Given the description of an element on the screen output the (x, y) to click on. 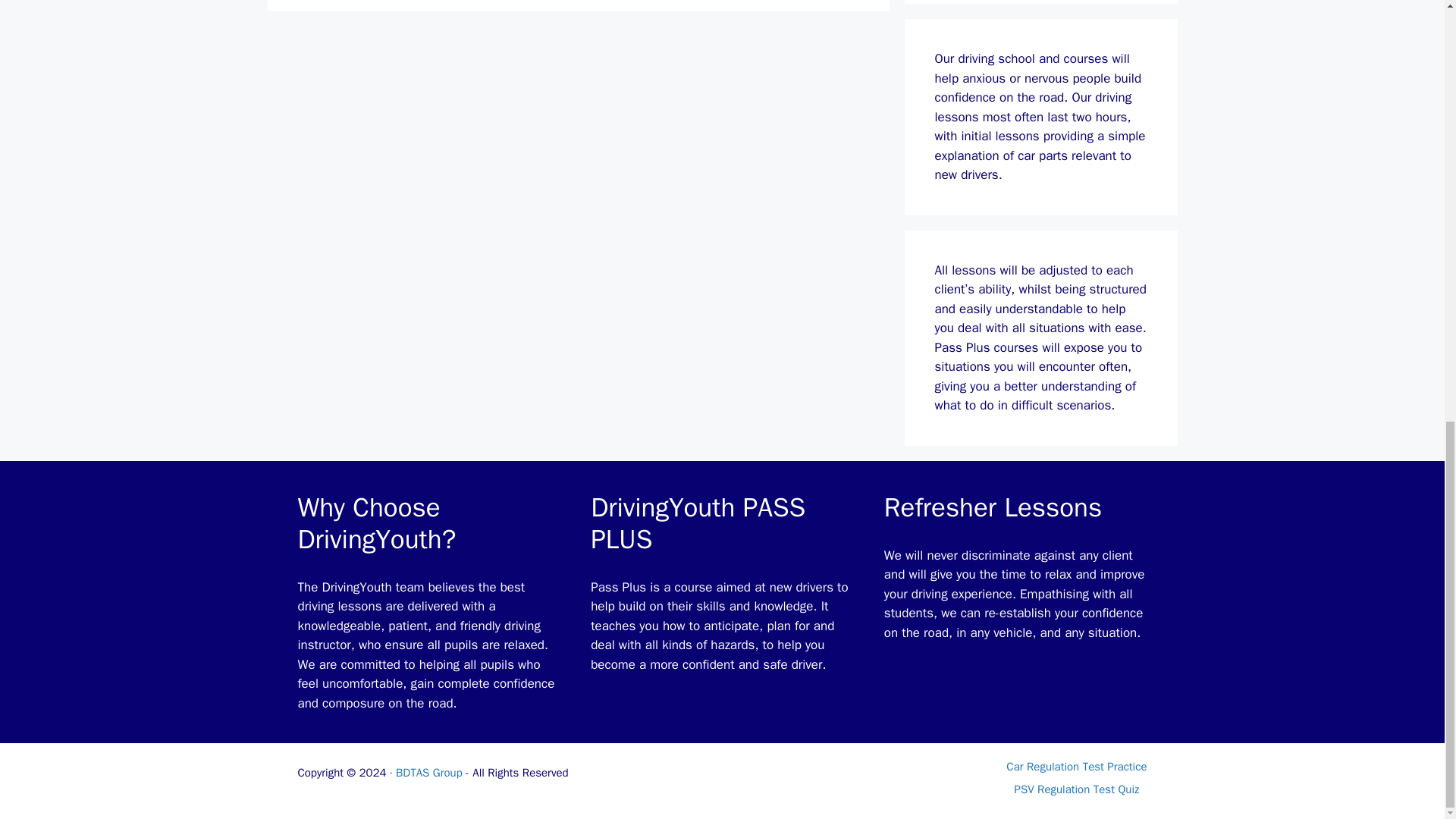
Scroll back to top (1406, 668)
